Given the description of an element on the screen output the (x, y) to click on. 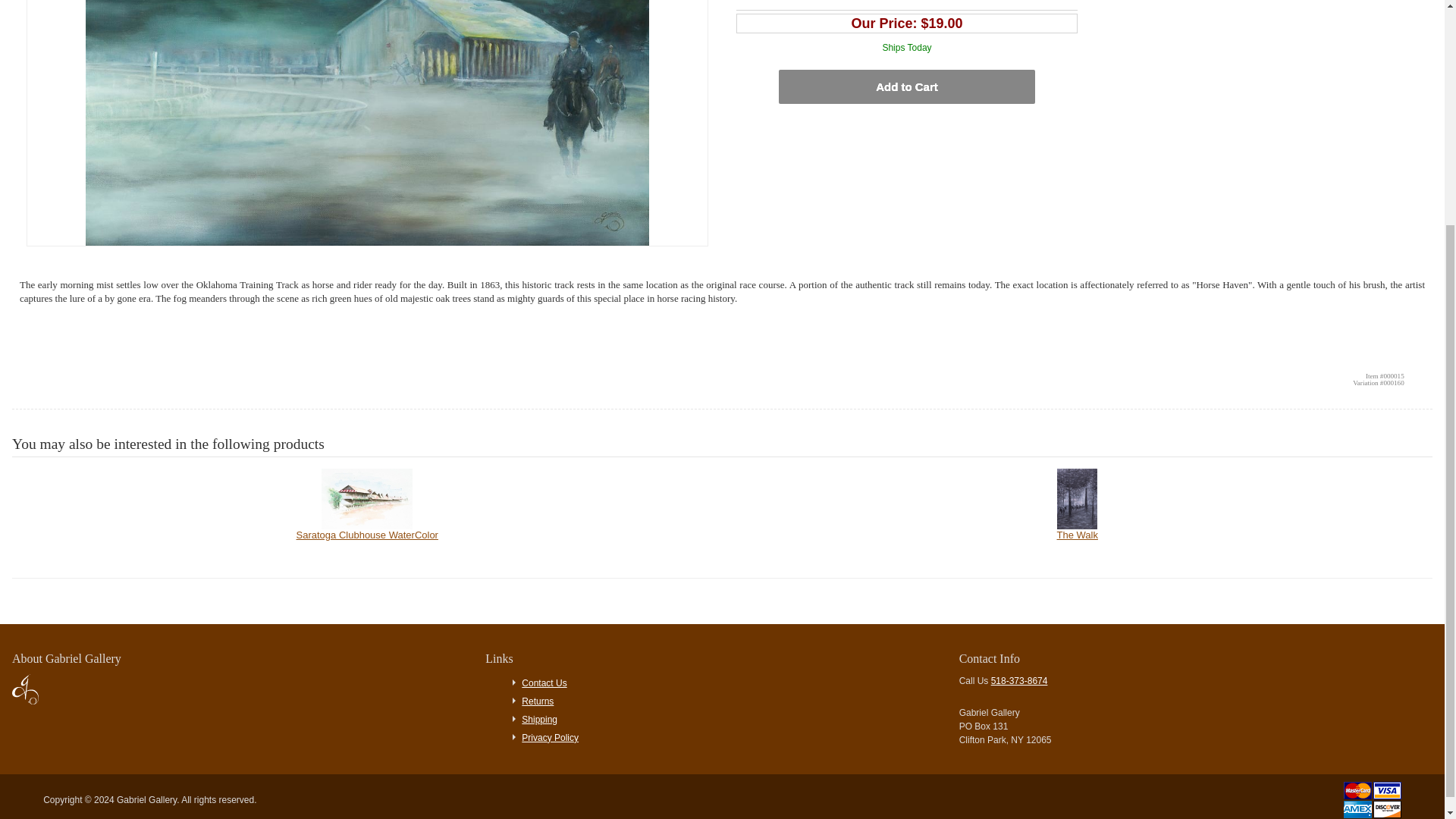
Add to Cart (905, 86)
Saratoga Clubhouse WaterColor (367, 504)
Privacy Policy (549, 737)
Add to Cart (905, 86)
Returns (537, 701)
Contact Us (543, 683)
The Walk (1077, 504)
Shipping (539, 719)
518-373-8674 (1019, 680)
